Given the description of an element on the screen output the (x, y) to click on. 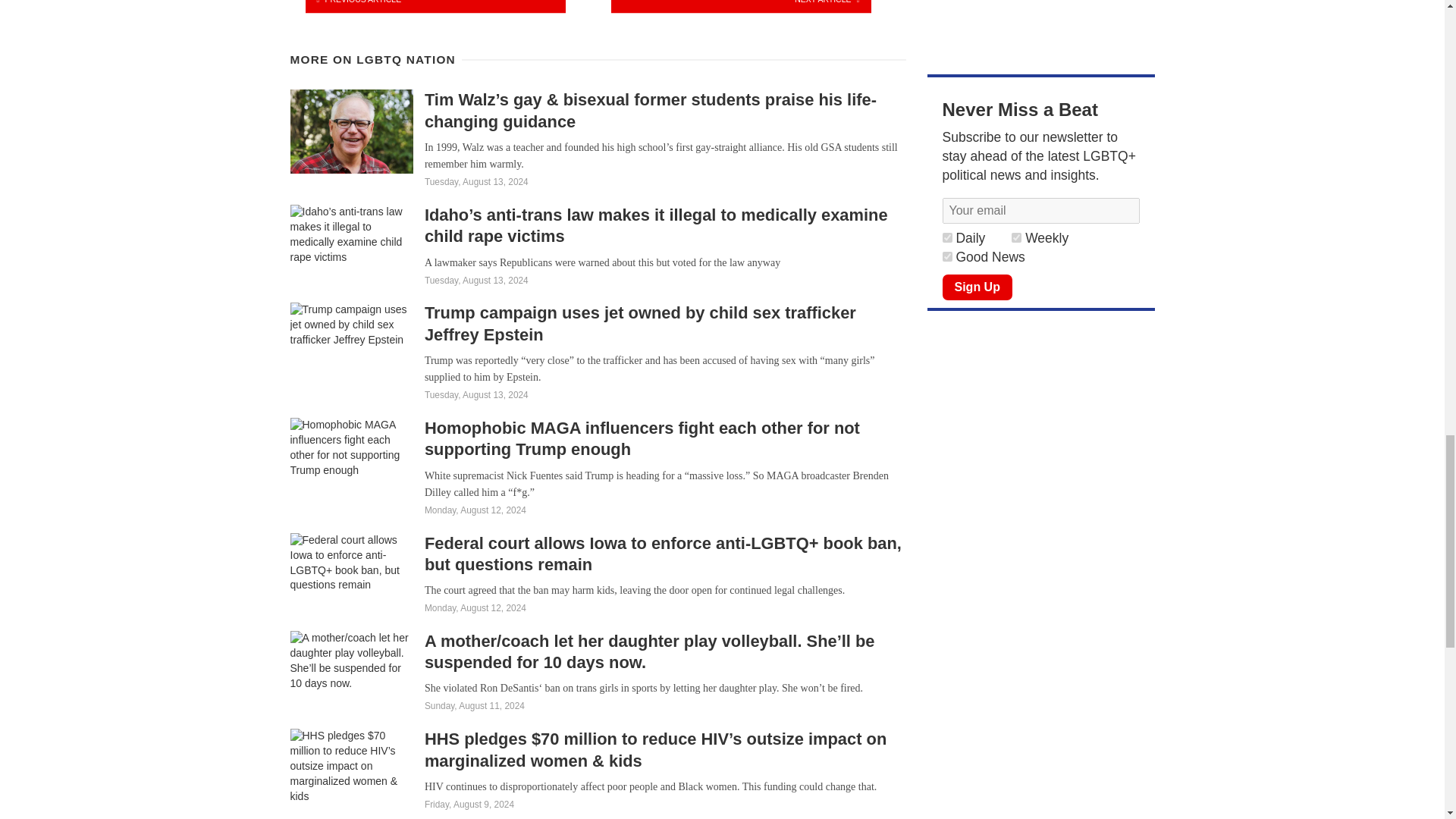
1920883 (947, 256)
1920885 (947, 237)
Sign Up (976, 287)
1920884 (1016, 237)
